Given the description of an element on the screen output the (x, y) to click on. 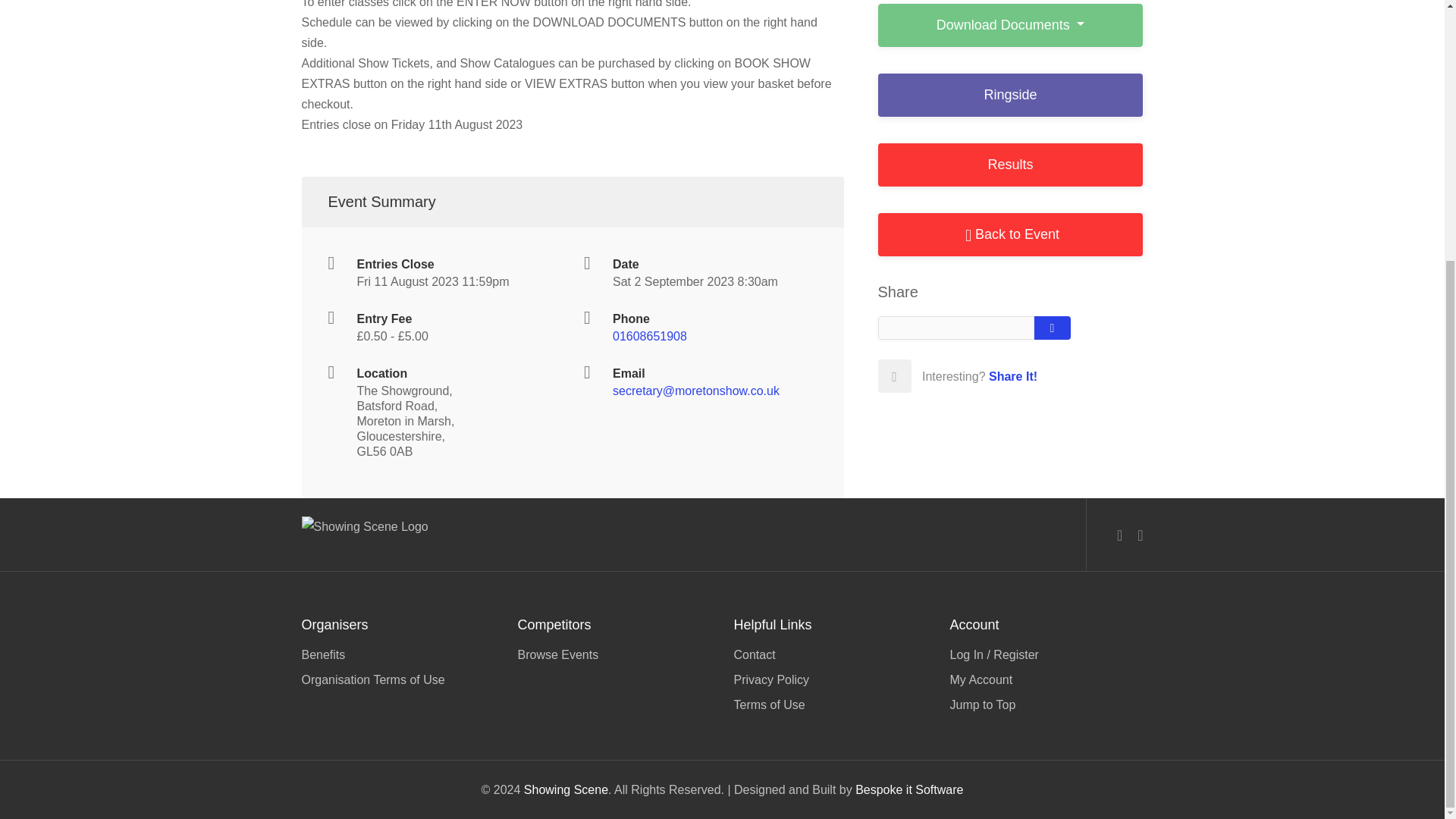
Organisation Terms of Use (398, 678)
01608651908 (649, 336)
Bespoke it Software (909, 789)
Results (1009, 164)
Facebook (1119, 535)
Jump to Top (1045, 703)
Privacy Policy (830, 679)
Ringside (1009, 95)
Instagram (1139, 535)
Terms of Use (830, 703)
